Given the description of an element on the screen output the (x, y) to click on. 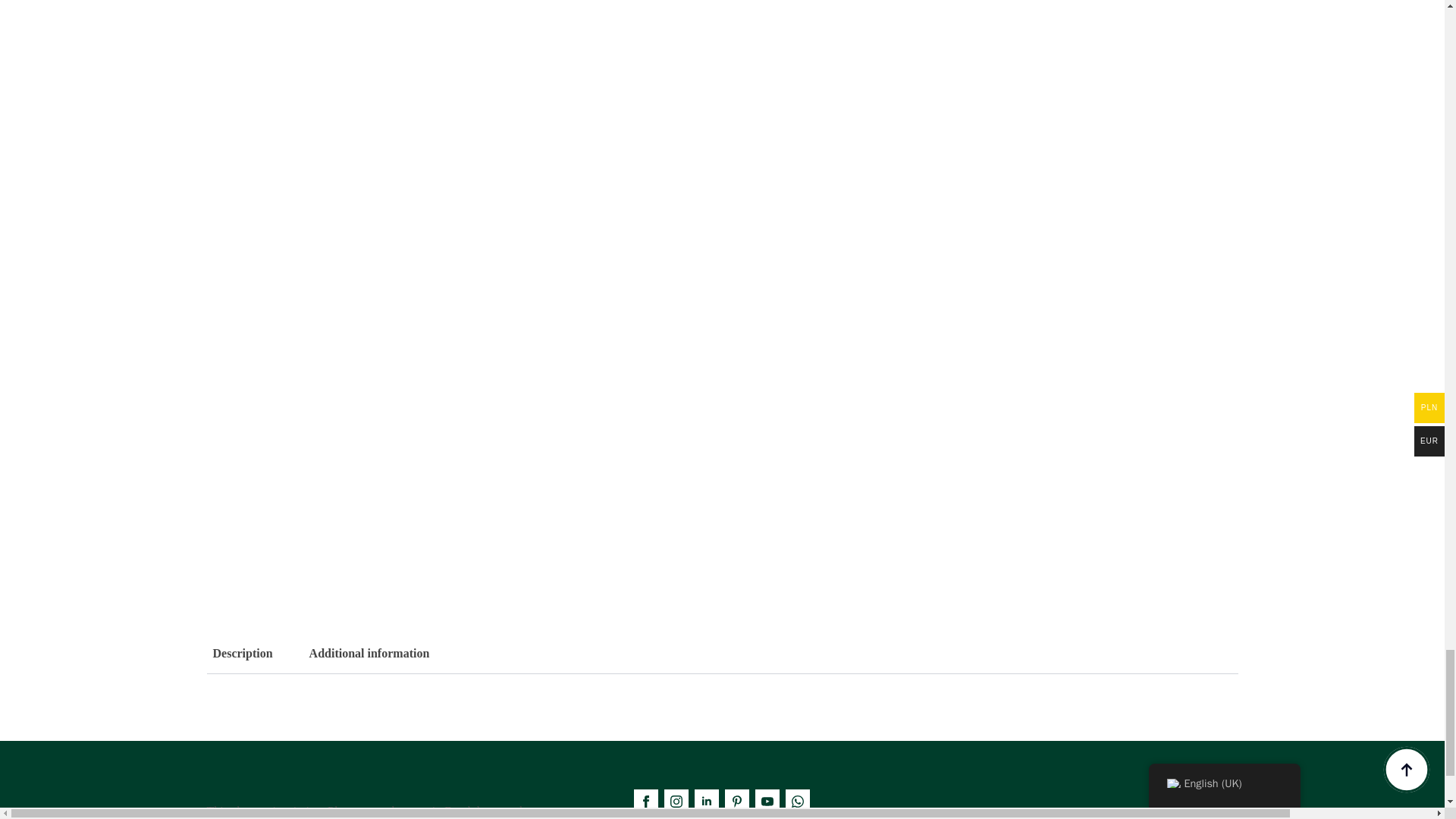
Additional information (368, 653)
Description (721, 653)
